Given the description of an element on the screen output the (x, y) to click on. 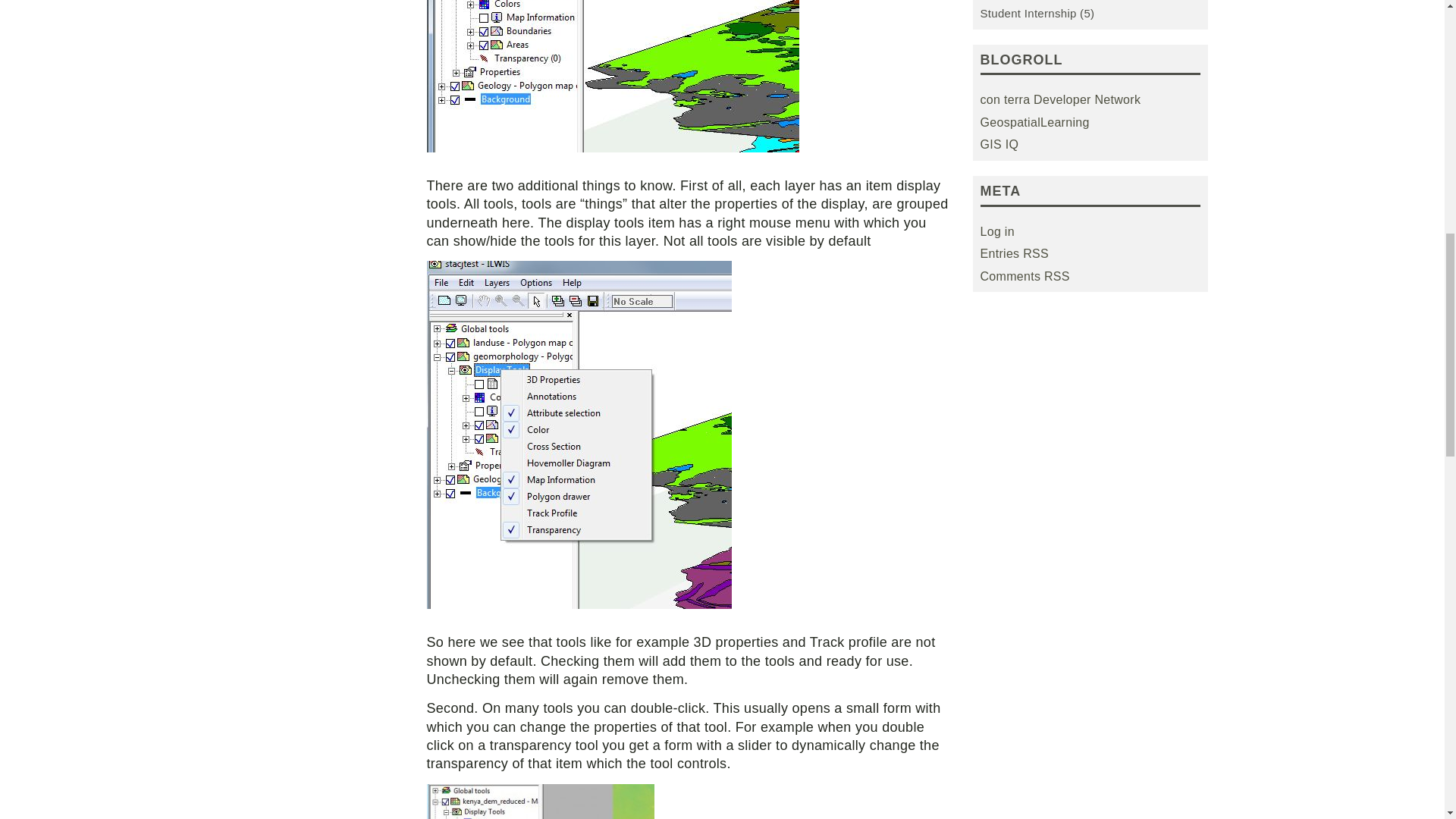
lv (611, 76)
lv3 (539, 801)
